Given the description of an element on the screen output the (x, y) to click on. 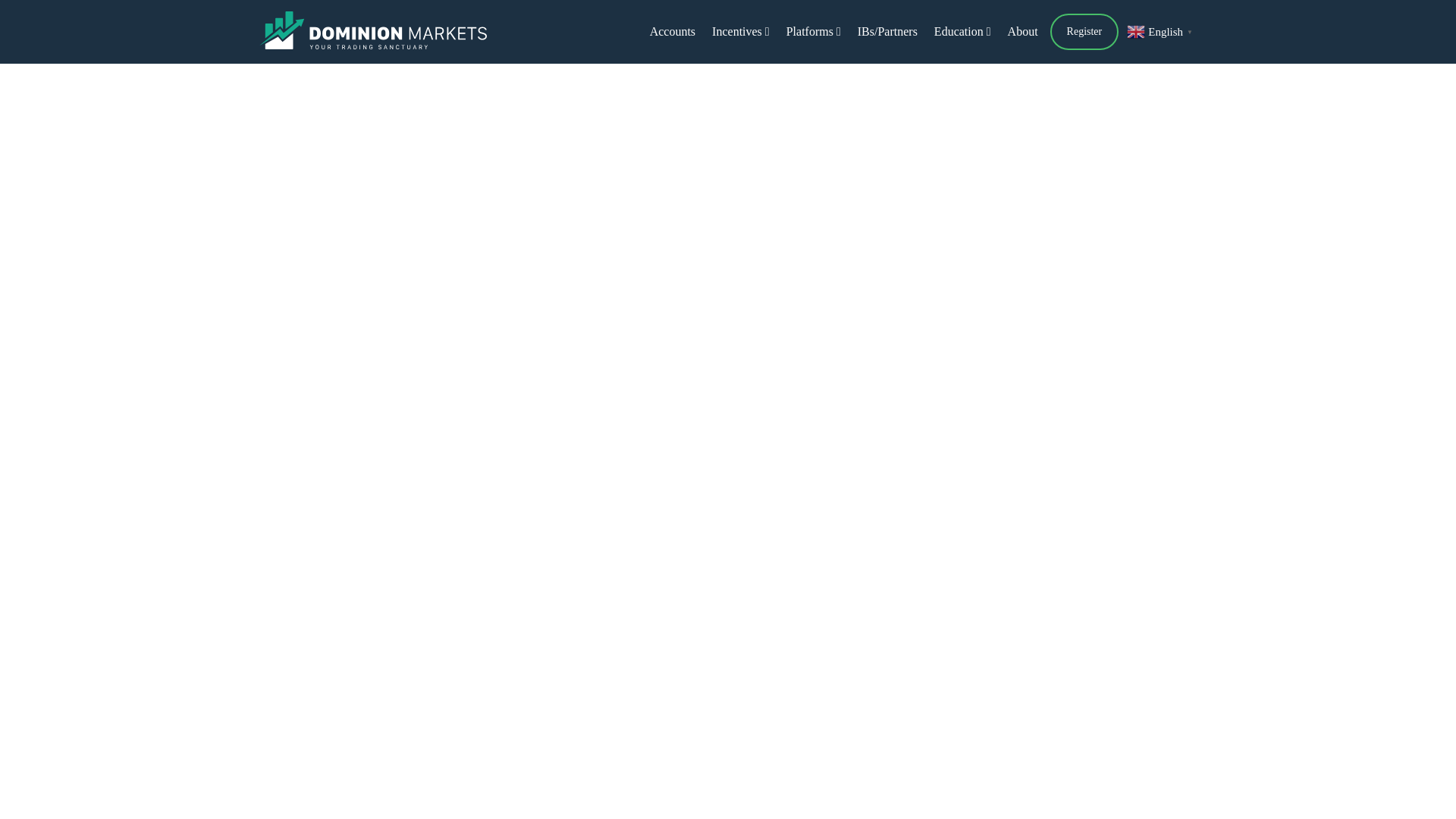
About (1022, 31)
Platforms (812, 31)
Register (1084, 31)
Education (962, 31)
Accounts (672, 31)
Incentives (740, 31)
